Given the description of an element on the screen output the (x, y) to click on. 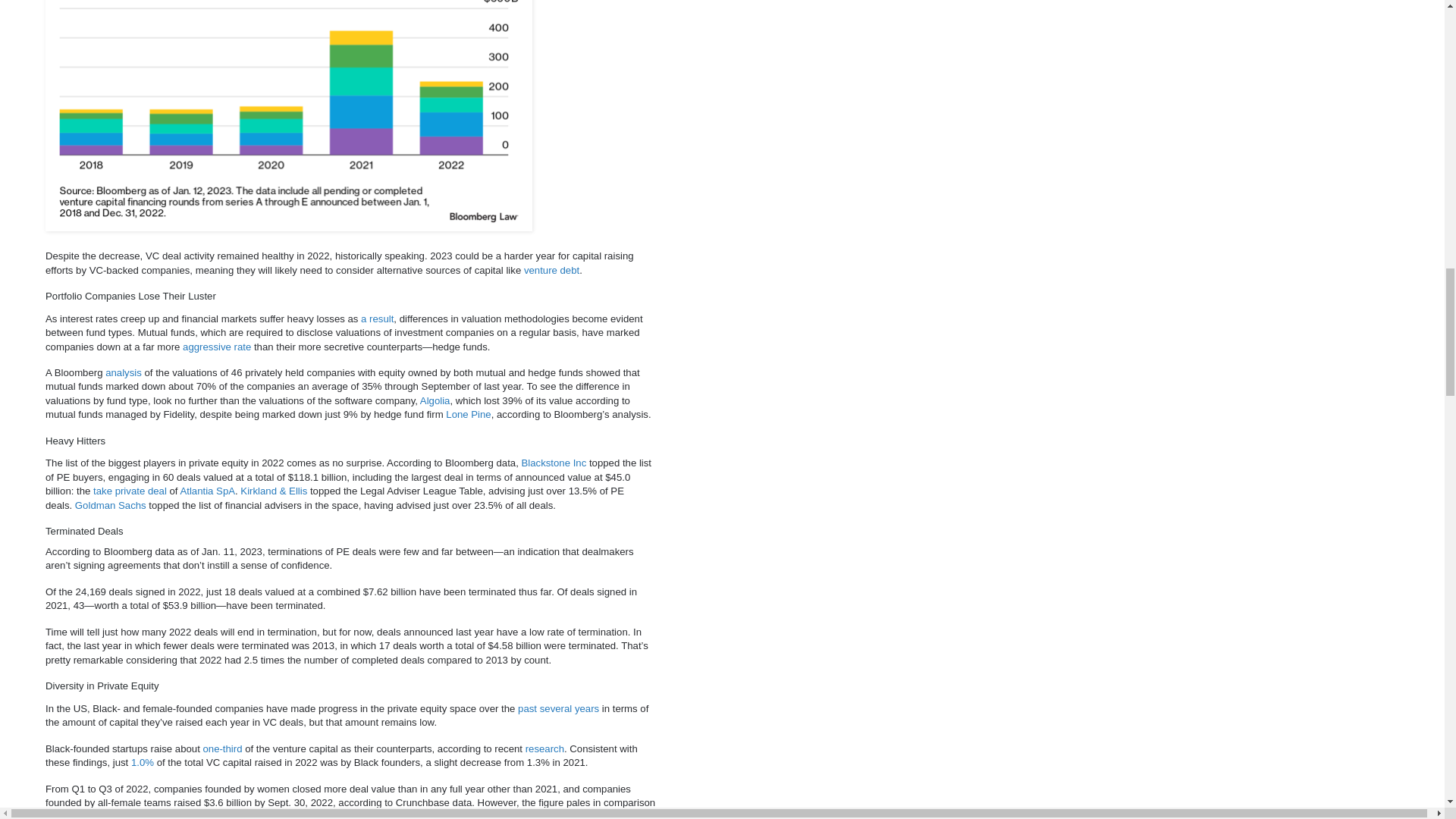
Blackstone Inc (553, 462)
Atlantia SpA (206, 490)
aggressive rate (216, 346)
analysis (122, 372)
past several years (558, 708)
Goldman Sachs (111, 505)
Lone Pine (467, 414)
Algolia (434, 400)
a result (377, 318)
take private deal (130, 490)
